Given the description of an element on the screen output the (x, y) to click on. 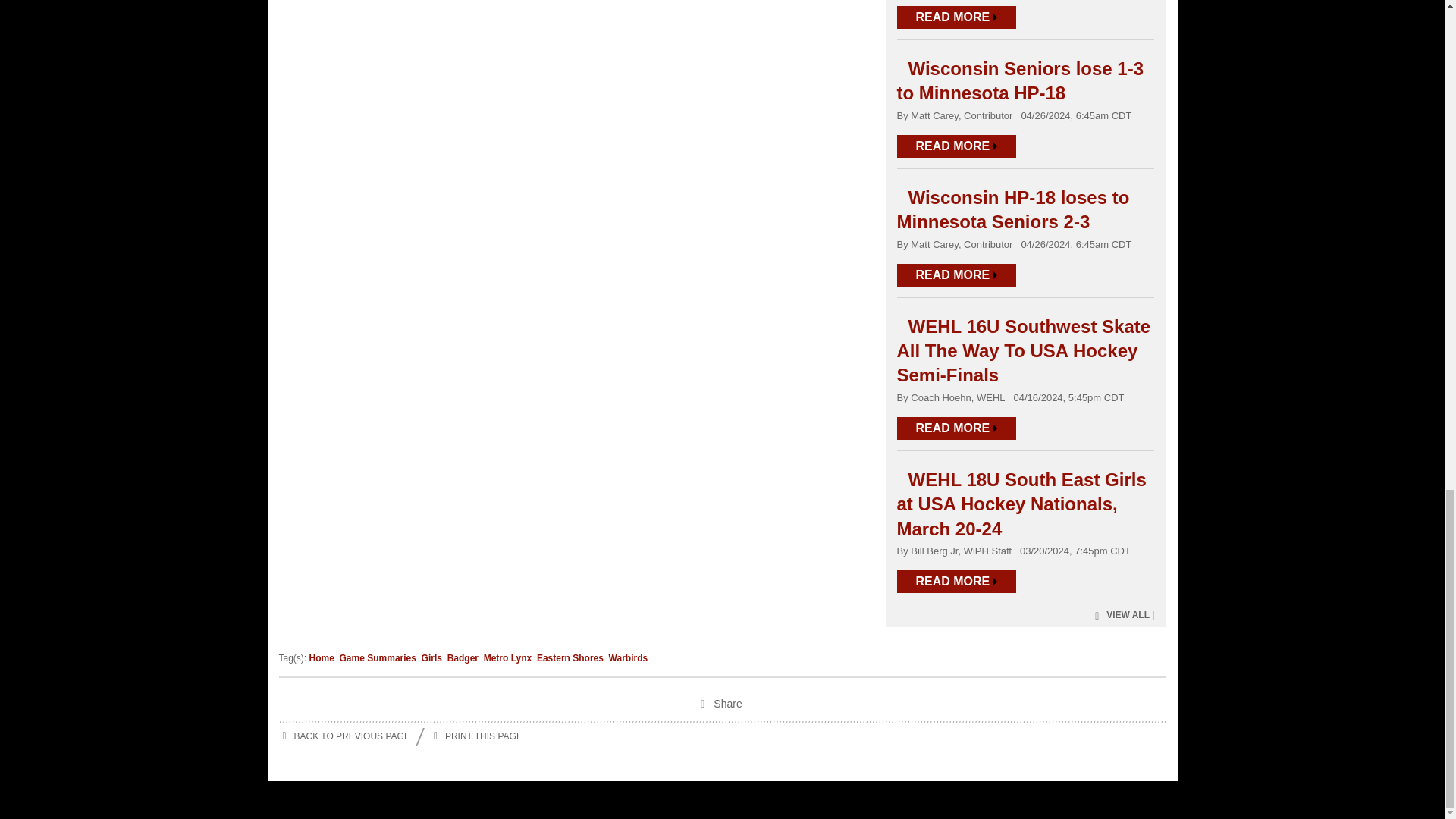
View All (1120, 615)
